Given the description of an element on the screen output the (x, y) to click on. 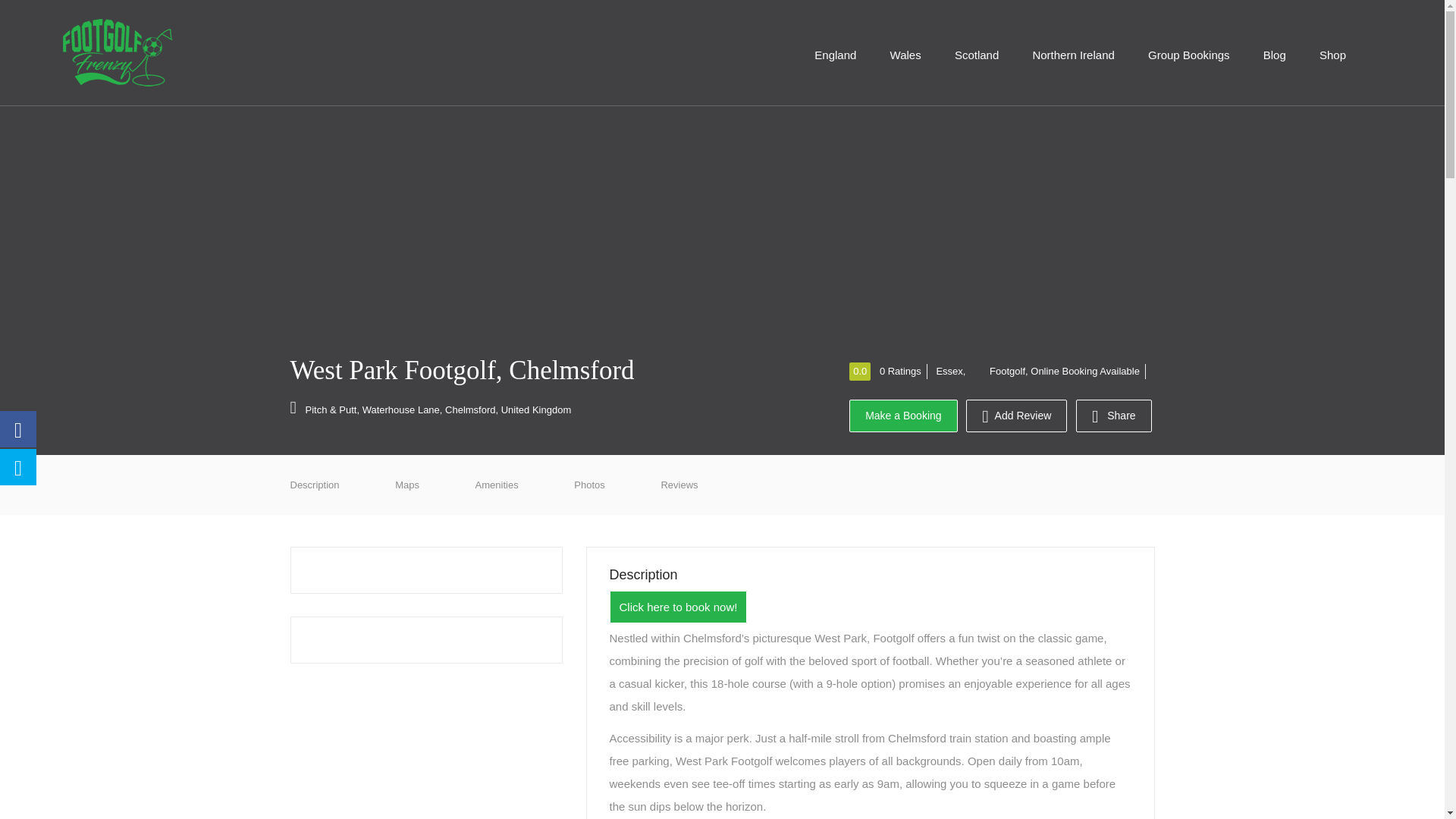
Make a Booking (902, 415)
Add Review (1016, 415)
Group Bookings (1188, 55)
Essex (949, 370)
Share (1113, 415)
Click here to book now! (679, 606)
Wales (905, 55)
Scotland (976, 55)
Shop (1332, 55)
Footgolf (996, 370)
